Given the description of an element on the screen output the (x, y) to click on. 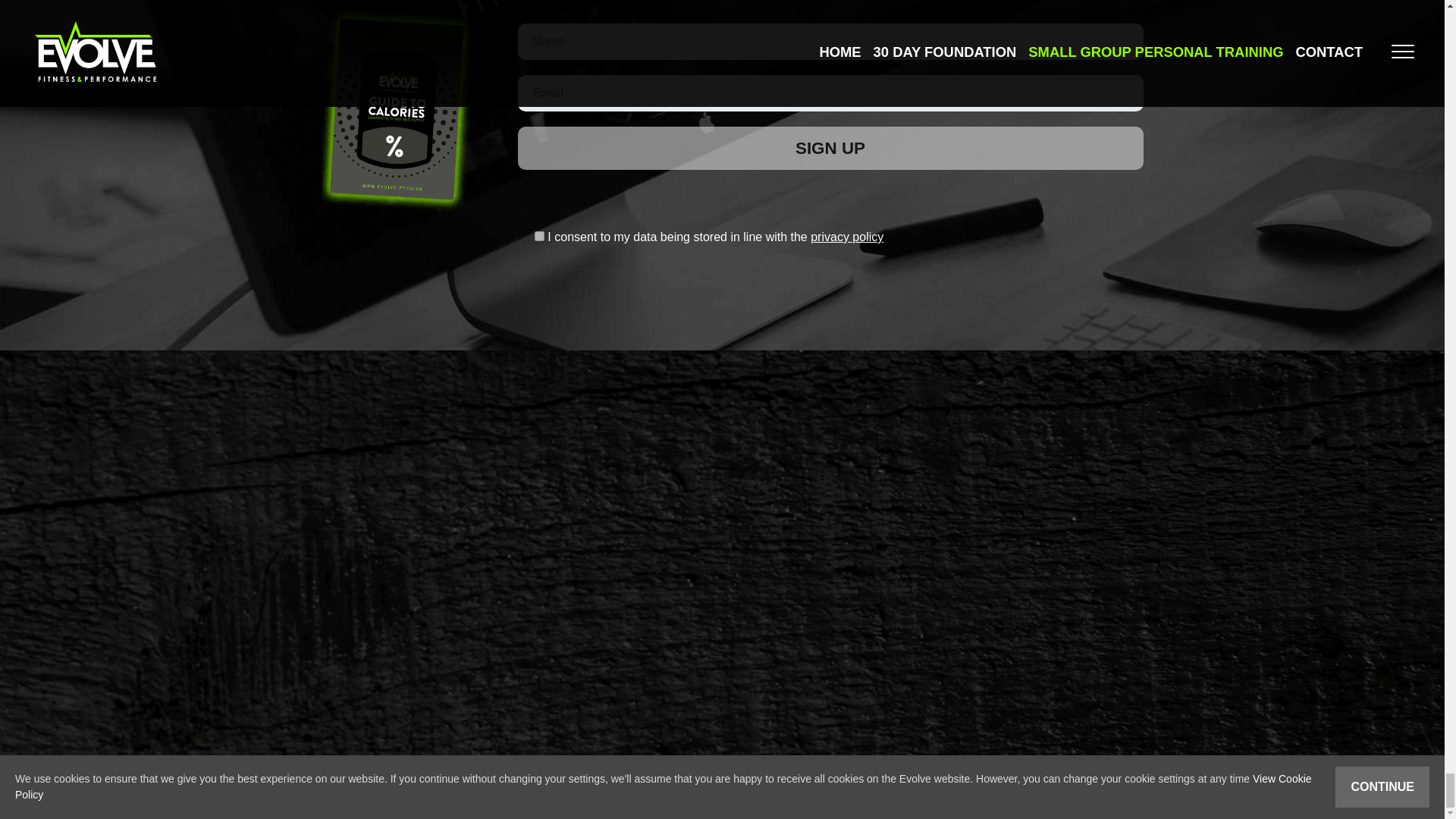
1 (539, 235)
Sign Up (829, 148)
